Given the description of an element on the screen output the (x, y) to click on. 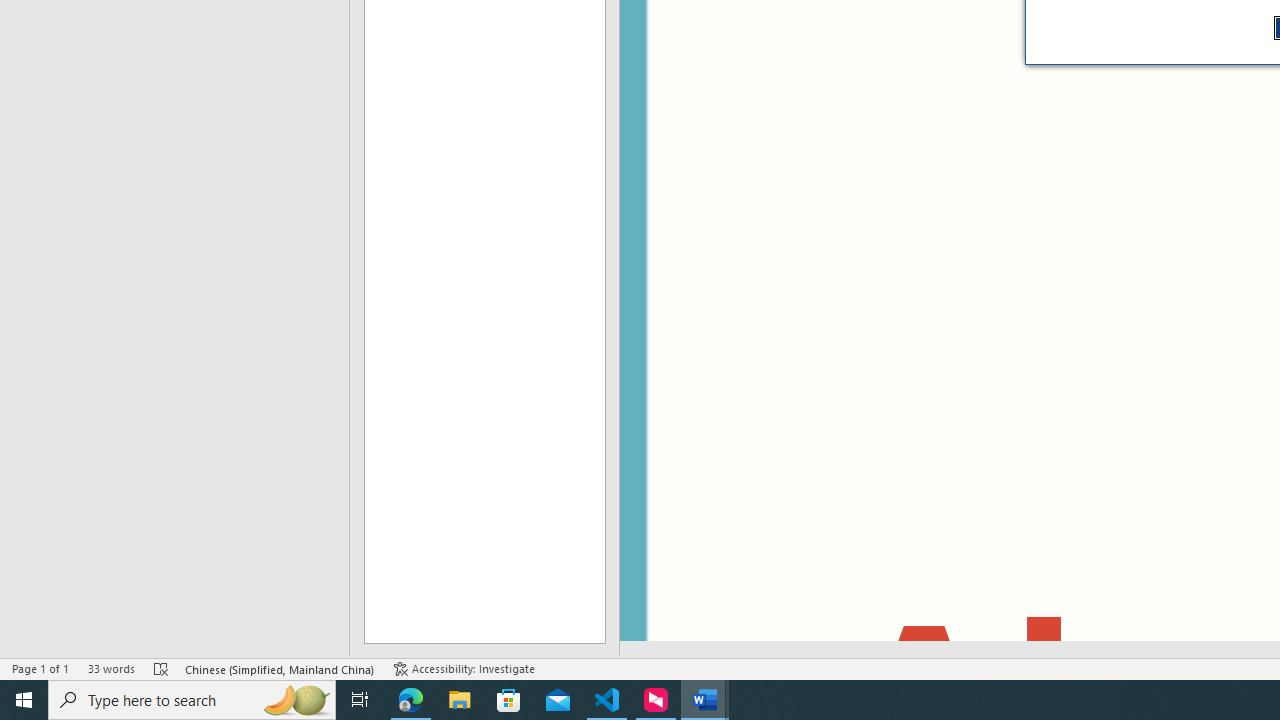
Microsoft Store (509, 699)
Spelling and Grammar Check Errors (161, 668)
Start (24, 699)
Type here to search (191, 699)
Search highlights icon opens search home window (295, 699)
Task View (359, 699)
File Explorer (460, 699)
Accessibility Checker Accessibility: Investigate (464, 668)
Language Chinese (Simplified, Mainland China) (279, 668)
Page Number Page 1 of 1 (39, 668)
Microsoft Edge - 1 running window (411, 699)
Visual Studio Code - 1 running window (607, 699)
Word - 2 running windows (704, 699)
